Given the description of an element on the screen output the (x, y) to click on. 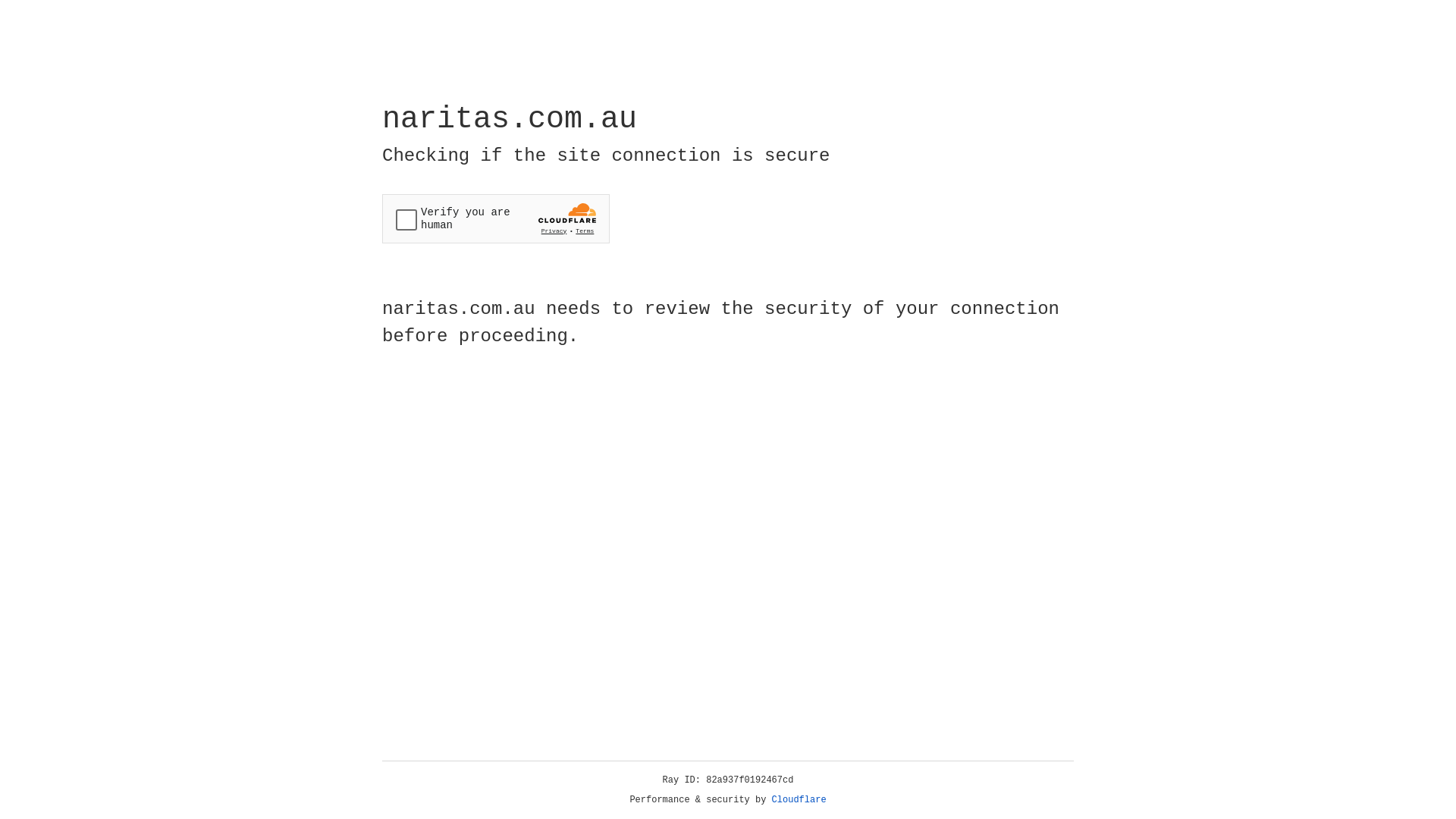
Cloudflare Element type: text (798, 799)
Widget containing a Cloudflare security challenge Element type: hover (495, 218)
